Given the description of an element on the screen output the (x, y) to click on. 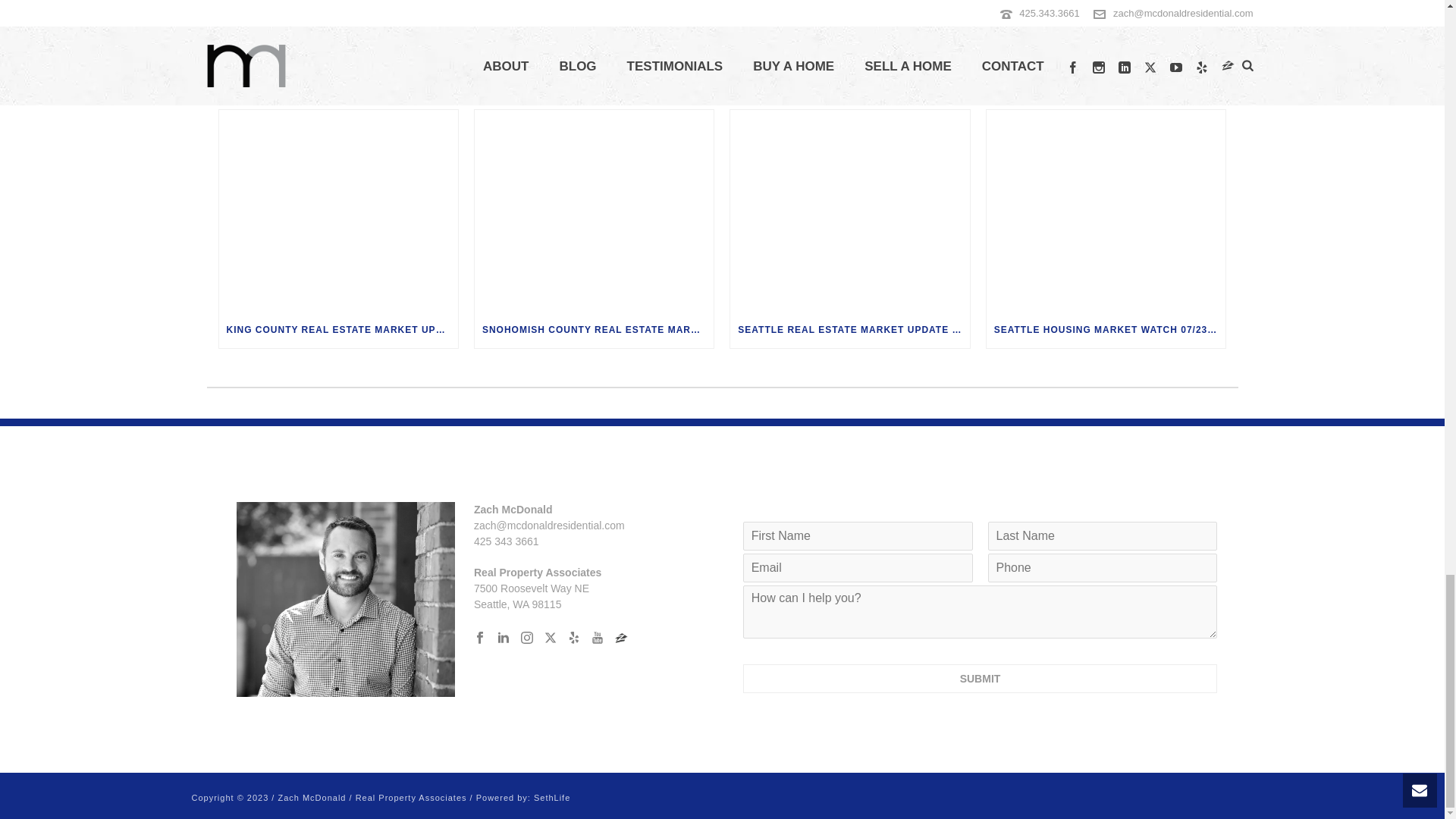
Follow Us on yelp (573, 638)
Follow Us on facebook (480, 638)
Follow Us on twitter (550, 638)
Follow Us on linkedin (503, 638)
Follow Us on instagram (526, 638)
